Given the description of an element on the screen output the (x, y) to click on. 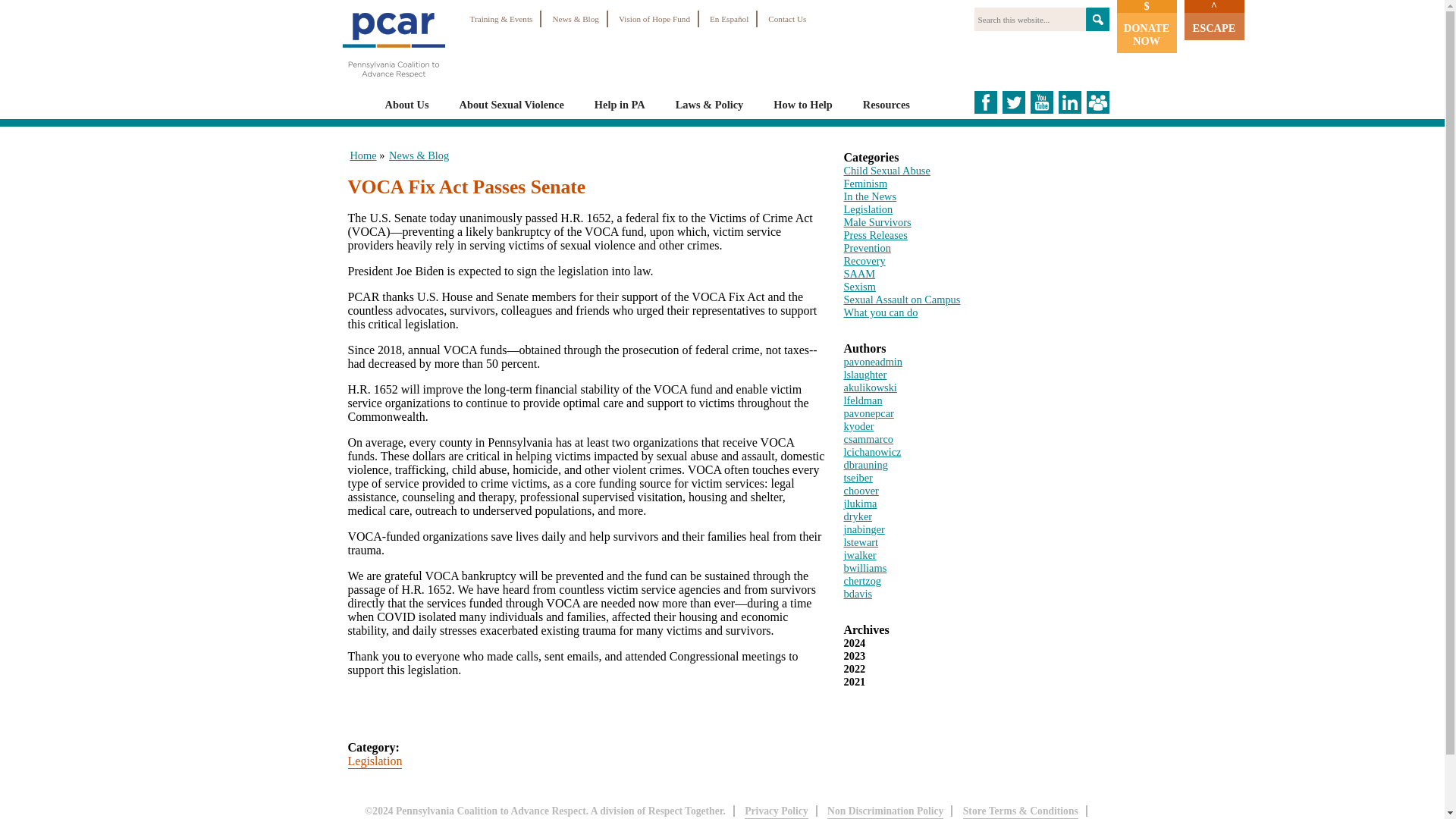
Community (1097, 101)
Enter the terms you wish to search for. (1029, 19)
Search (1097, 19)
Community (1097, 109)
Contact Us (786, 18)
About Us (407, 104)
Vision of Hope Fund (654, 18)
About Sexual Violence (510, 104)
Home (391, 83)
Help in PA (619, 104)
Search (1097, 19)
